Given the description of an element on the screen output the (x, y) to click on. 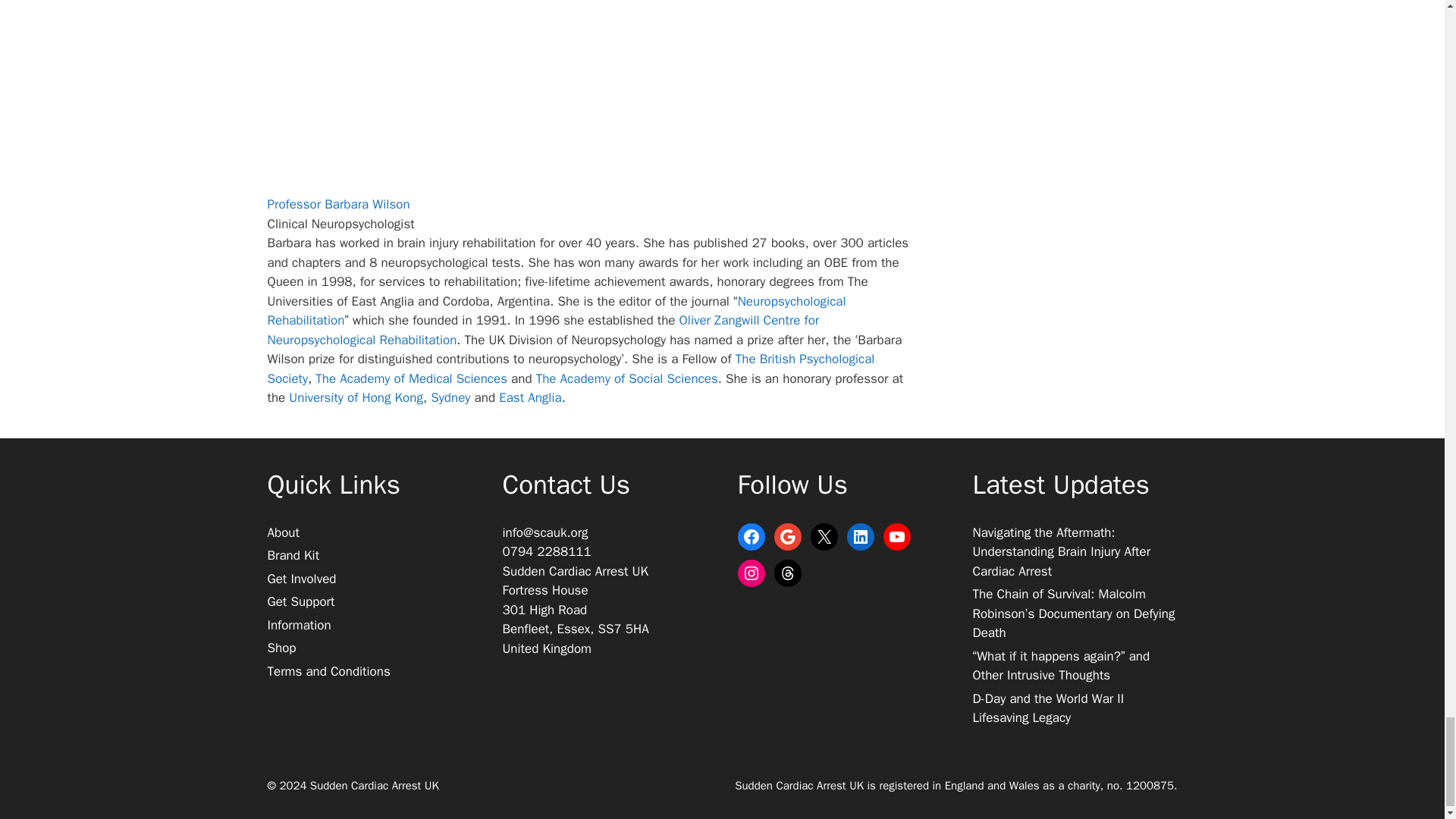
Open address in Google Maps (604, 610)
